Given the description of an element on the screen output the (x, y) to click on. 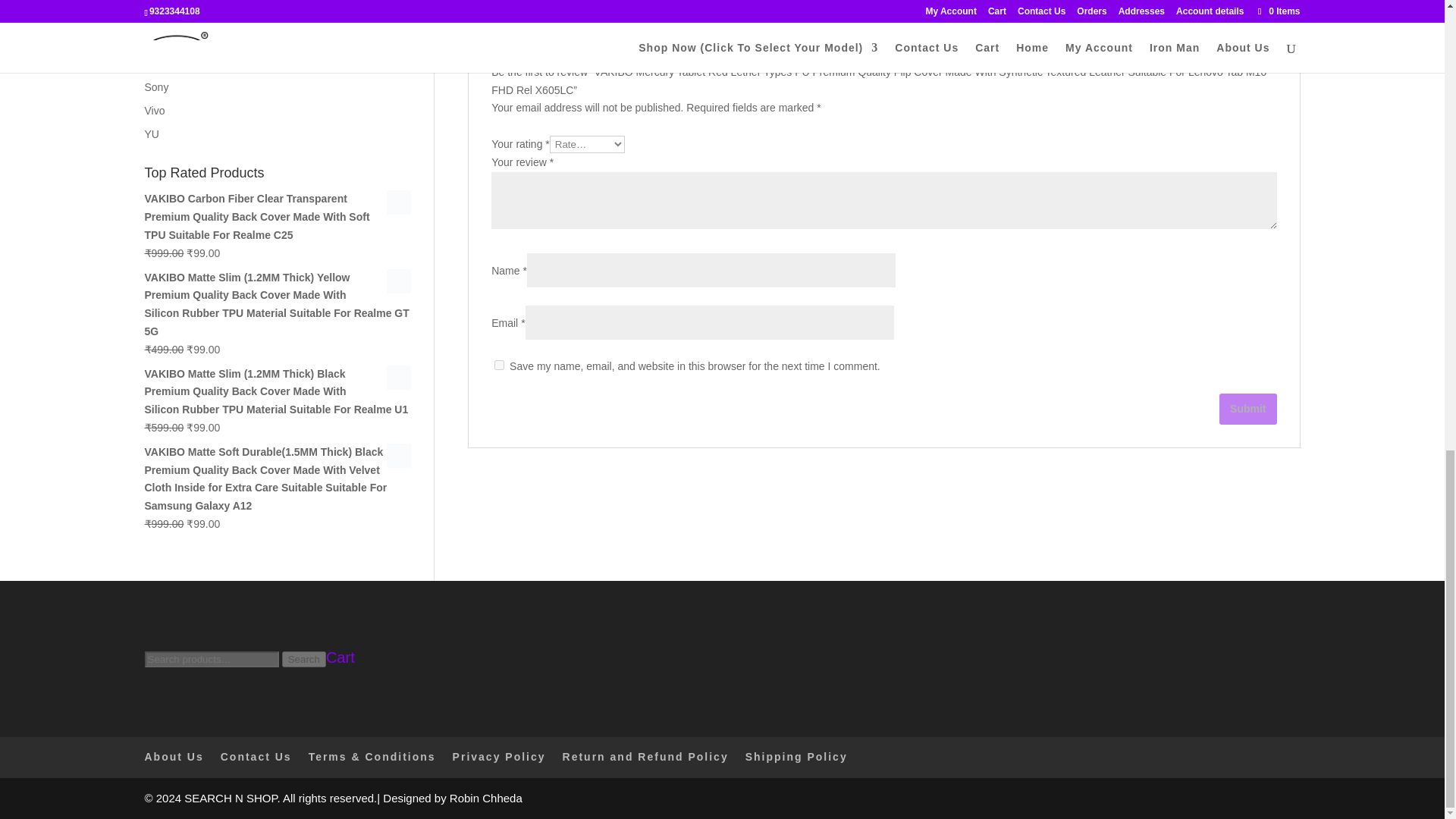
Submit (1248, 409)
Submit (1248, 409)
yes (499, 365)
